Given the description of an element on the screen output the (x, y) to click on. 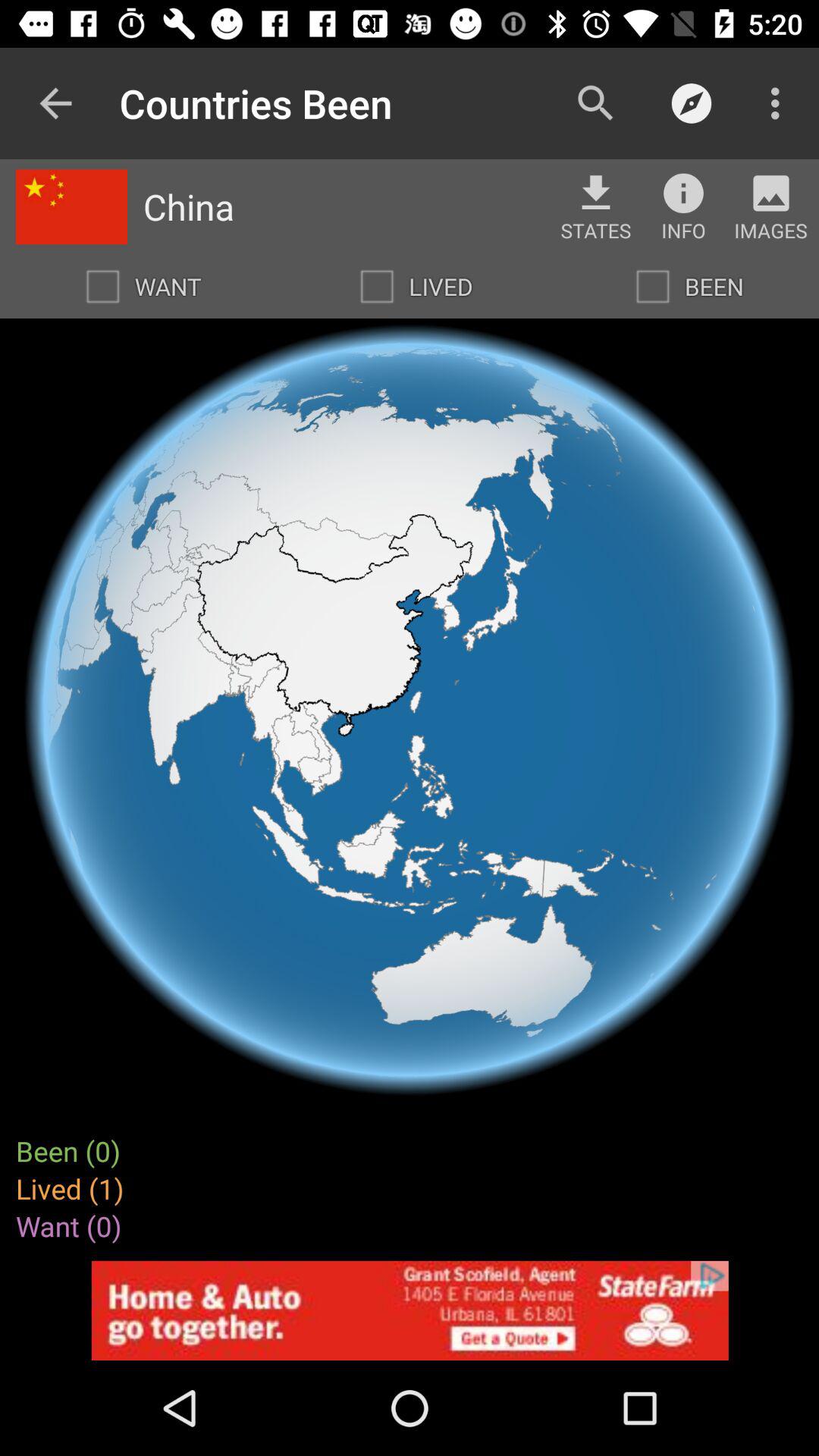
mark location as lived (376, 286)
